Given the description of an element on the screen output the (x, y) to click on. 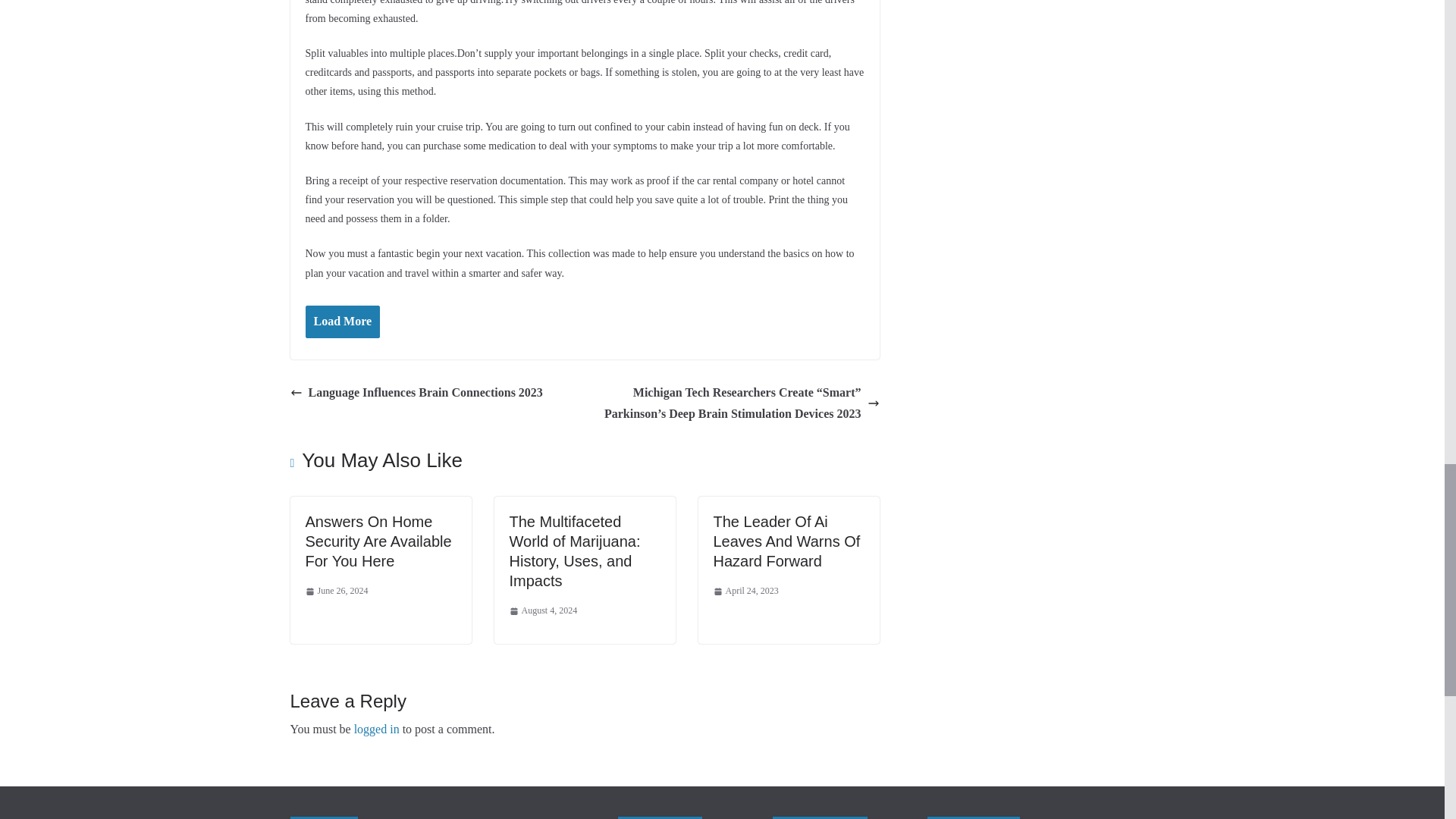
Answers On Home Security Are Available For You Here (377, 541)
11:53 am (336, 591)
logged in (375, 728)
Answers On Home Security Are Available For You Here (377, 541)
April 24, 2023 (745, 591)
Language Influences Brain Connections 2023 (415, 393)
The Leader Of Ai Leaves And Warns Of Hazard Forward (786, 541)
August 4, 2024 (543, 610)
June 26, 2024 (336, 591)
